Given the description of an element on the screen output the (x, y) to click on. 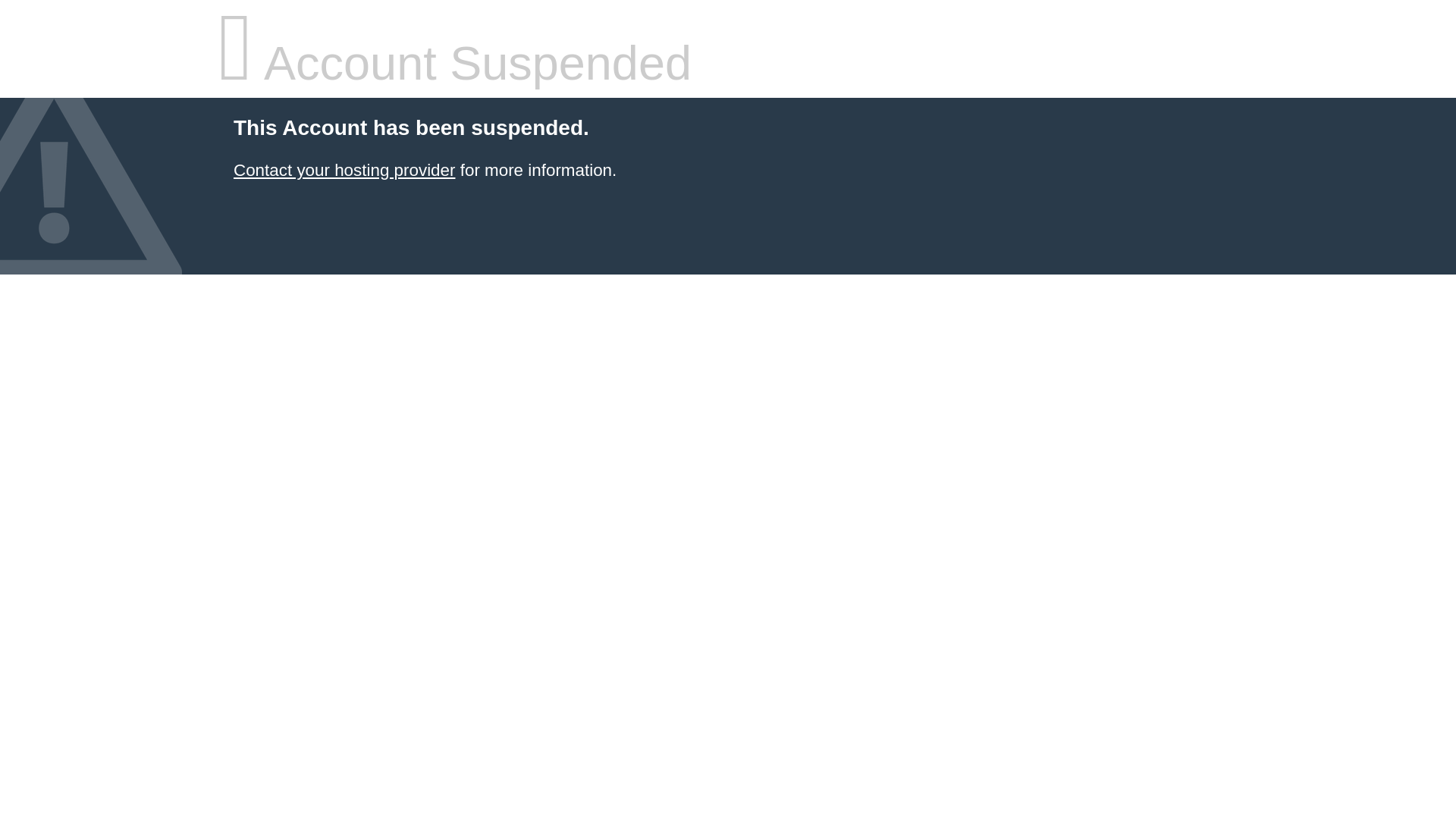
Contact your hosting provider (343, 169)
